Given the description of an element on the screen output the (x, y) to click on. 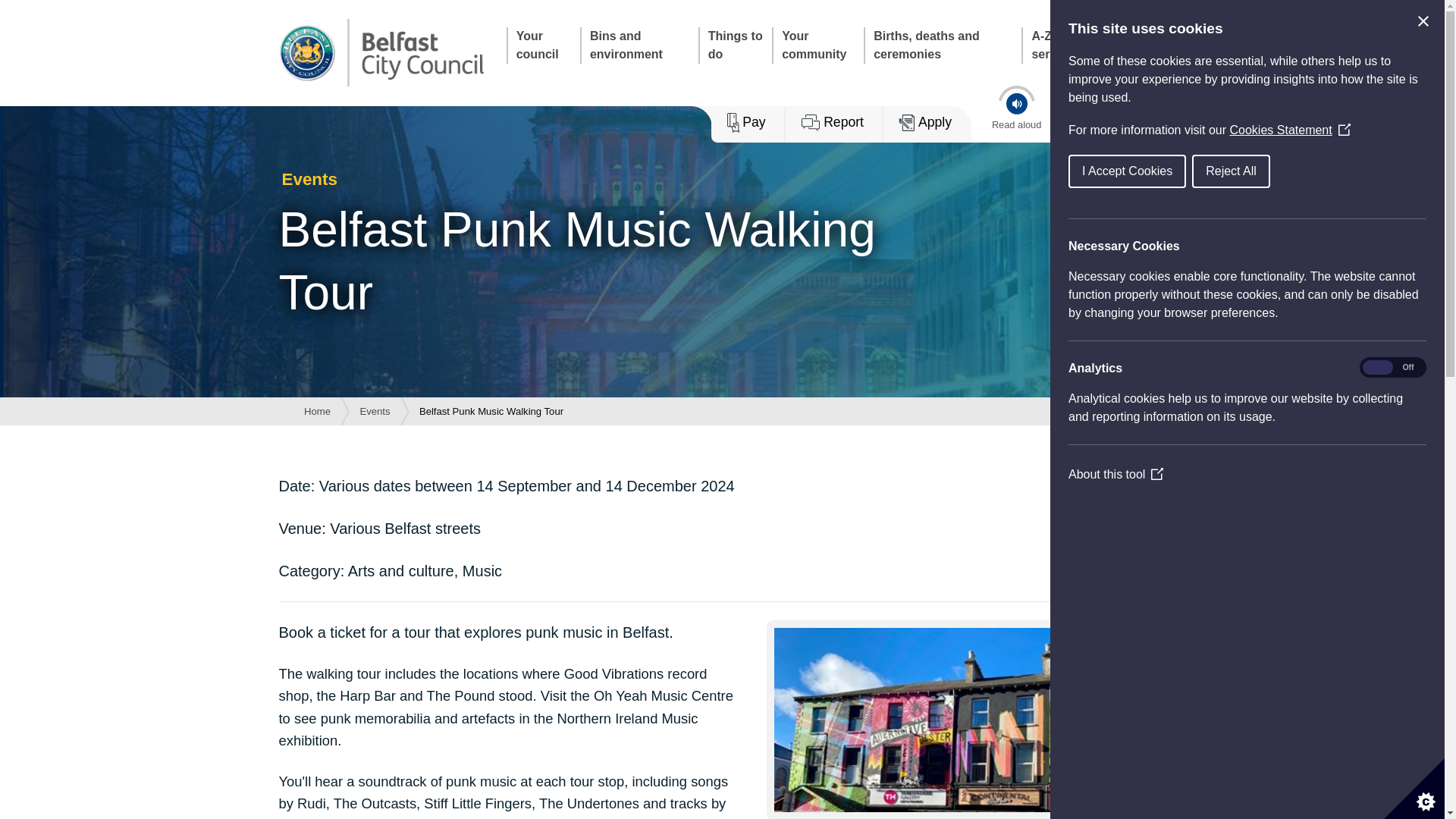
Pay (748, 124)
Births, deaths and ceremonies (942, 45)
Read aloud (1015, 109)
Your community (817, 45)
Events (374, 411)
Accessibility (1083, 109)
A-Z of services (1064, 45)
Report (834, 124)
Apply (929, 124)
Your council (542, 45)
Home (317, 411)
Things to do (734, 45)
Bins and environment (638, 45)
Contact us (1136, 45)
